Given the description of an element on the screen output the (x, y) to click on. 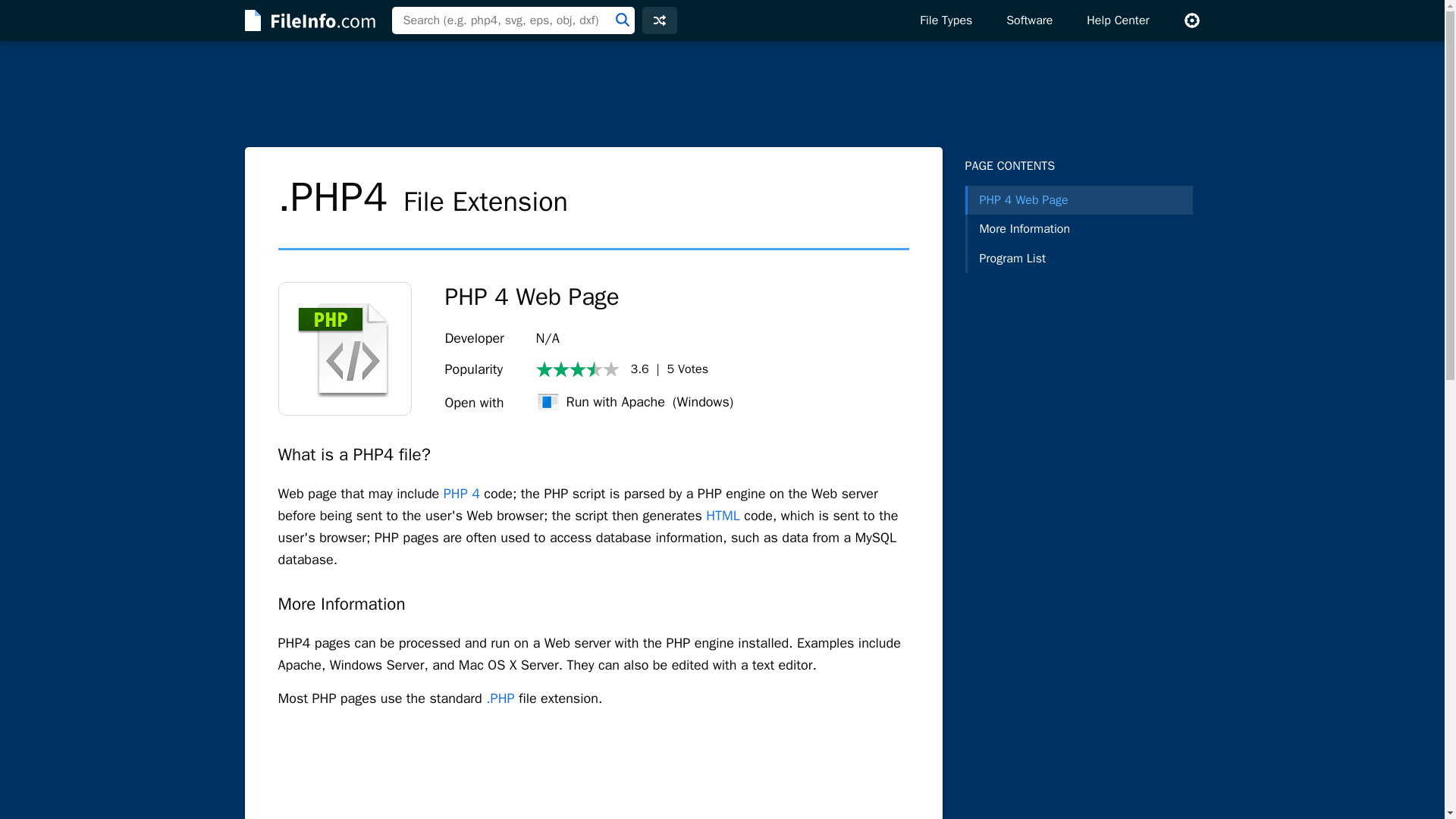
PHP 4 (462, 493)
FileInfo (307, 20)
.PHP (499, 698)
Help Center (1117, 20)
Random (659, 20)
Settings (1190, 20)
File Types (945, 20)
HTML (722, 515)
Adobe Dreamweaver CS6 Icon (344, 348)
